Given the description of an element on the screen output the (x, y) to click on. 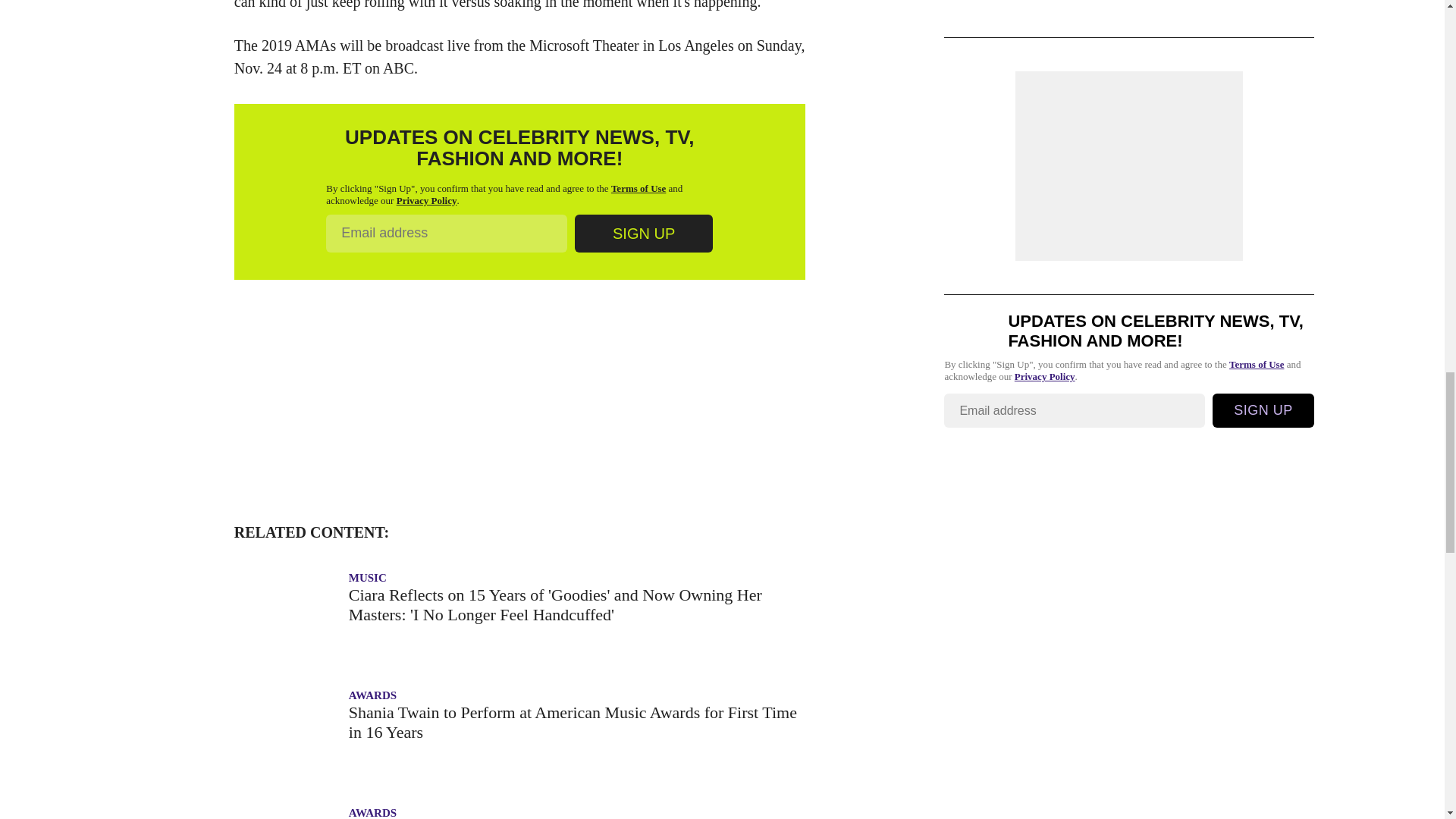
Terms of Use (638, 188)
SIGN UP (644, 233)
Privacy Policy (426, 200)
